Given the description of an element on the screen output the (x, y) to click on. 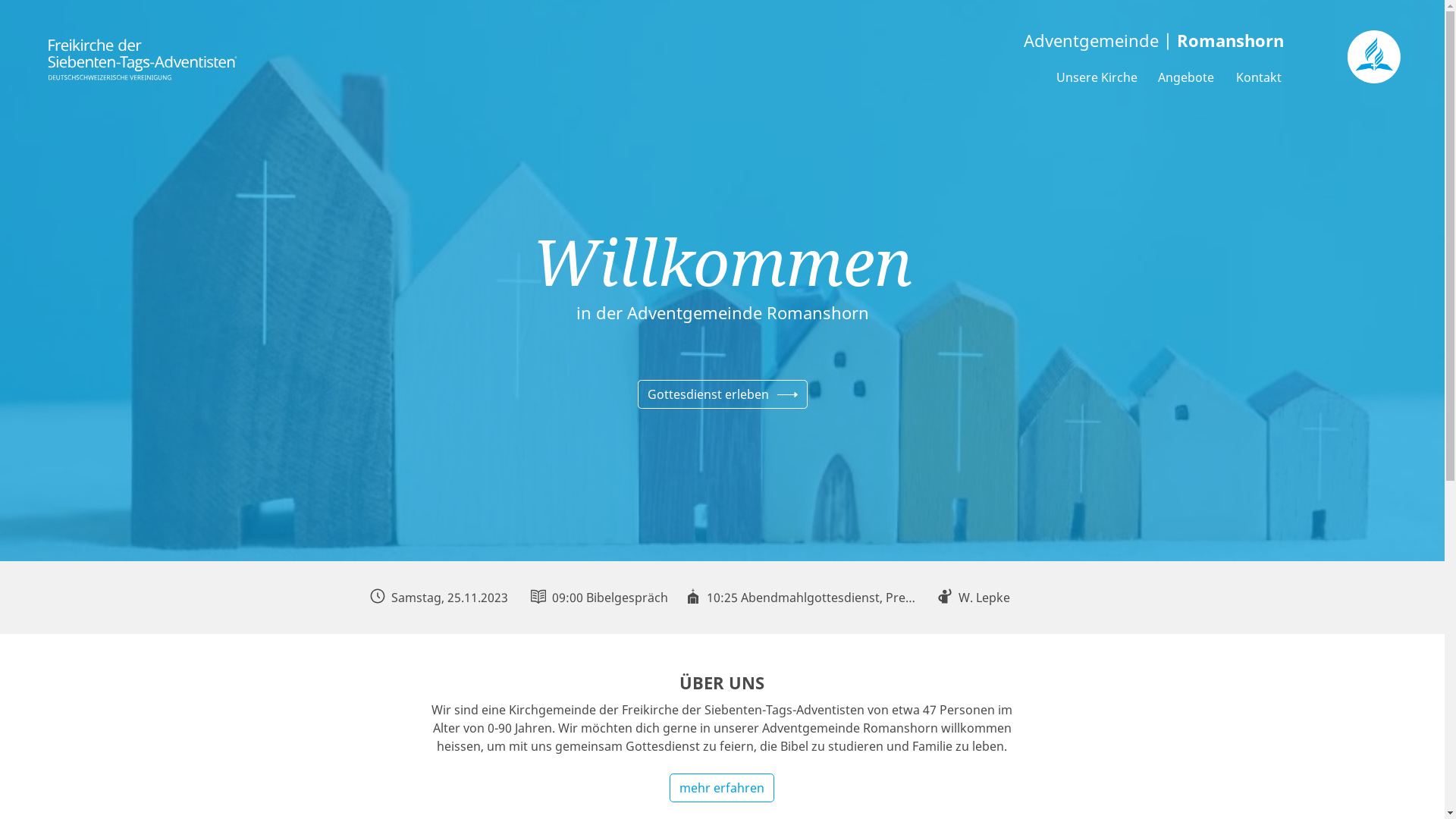
mehr erfahren Element type: text (721, 787)
Kontakt Element type: text (1258, 77)
Angebote Element type: text (1186, 77)
Adventgemeinde | Element type: text (793, 40)
Unsere Kirche Element type: text (1096, 77)
Gottesdienst erleben Element type: text (721, 393)
